Given the description of an element on the screen output the (x, y) to click on. 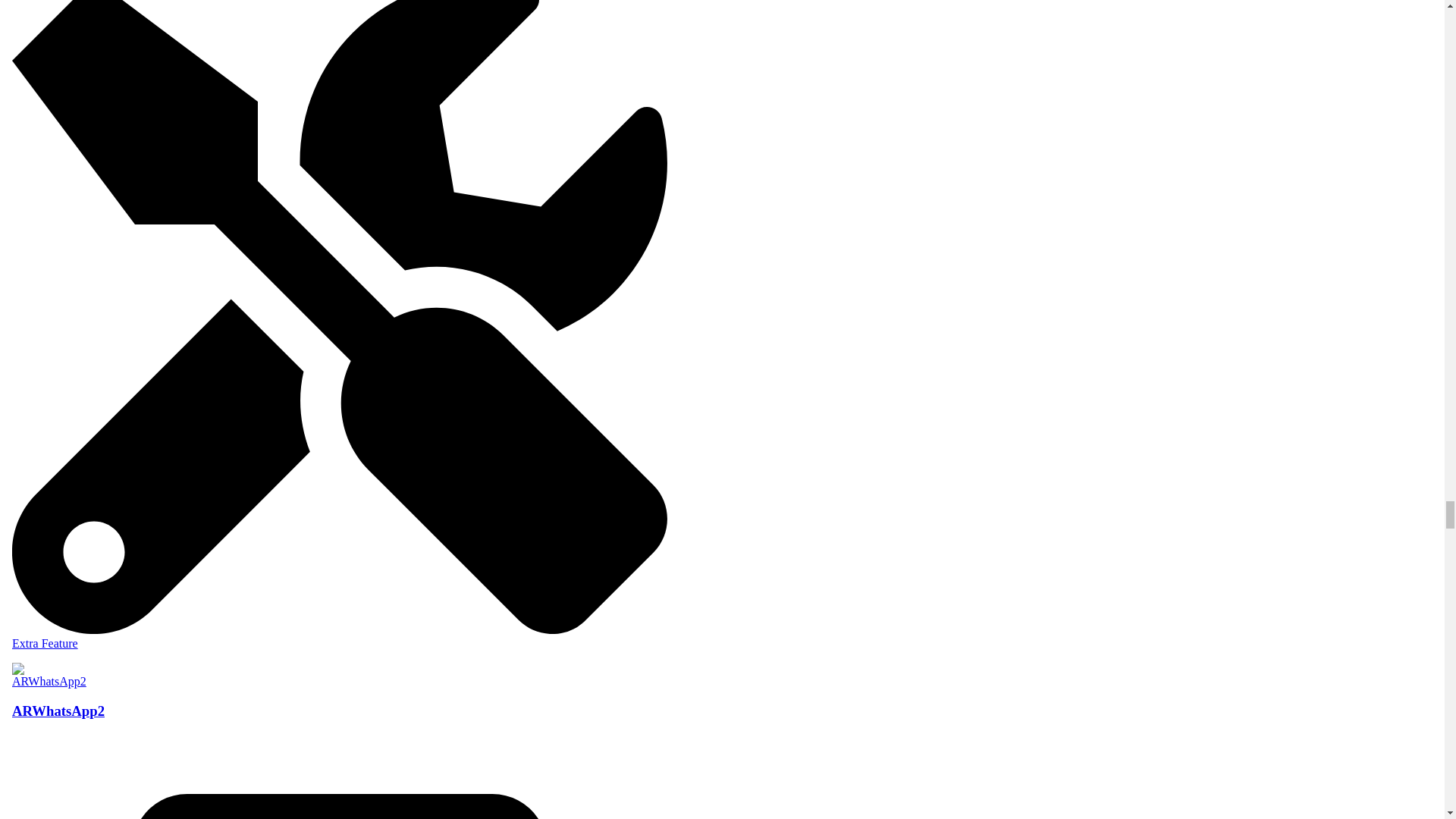
 ARWhatsApp2 (338, 737)
